Given the description of an element on the screen output the (x, y) to click on. 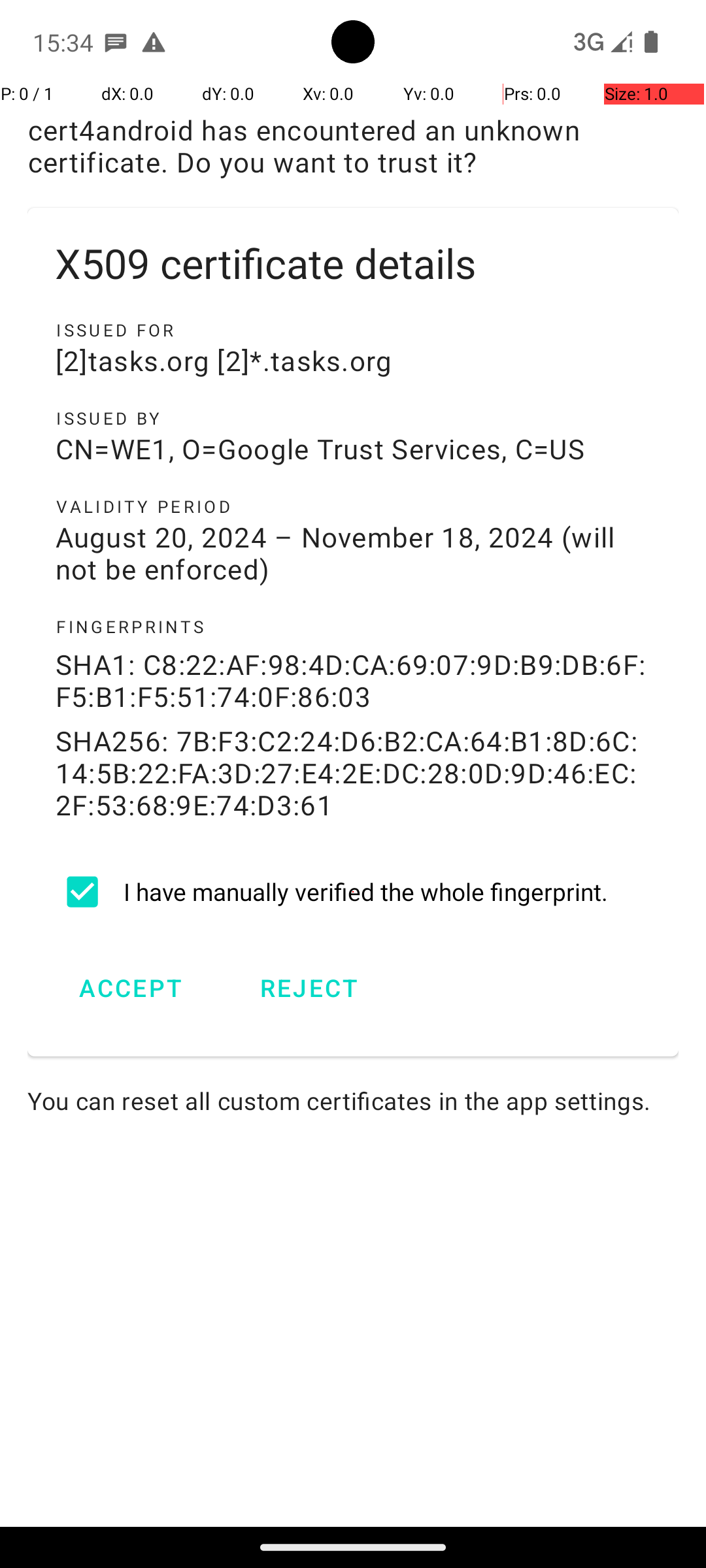
cert4android has encountered an unknown certificate. Do you want to trust it? Element type: android.widget.TextView (352, 145)
X509 certificate details Element type: android.widget.TextView (352, 262)
ISSUED FOR Element type: android.widget.TextView (352, 329)
[2]tasks.org [2]*.tasks.org  Element type: android.widget.TextView (352, 359)
ISSUED BY Element type: android.widget.TextView (352, 417)
CN=WE1, O=Google Trust Services, C=US Element type: android.widget.TextView (352, 448)
VALIDITY PERIOD Element type: android.widget.TextView (352, 506)
August 20, 2024 – November 18, 2024 (will not be enforced) Element type: android.widget.TextView (352, 552)
FINGERPRINTS Element type: android.widget.TextView (352, 626)
SHA1: C8:22:AF:98:4D:CA:69:07:9D:B9:DB:6F:F5:B1:F5:51:74:0F:86:03 Element type: android.widget.TextView (352, 679)
SHA256: 7B:F3:C2:24:D6:B2:CA:64:B1:8D:6C:14:5B:22:FA:3D:27:E4:2E:DC:28:0D:9D:46:EC:2F:53:68:9E:74:D3:61 Element type: android.widget.TextView (352, 772)
I have manually verified the whole fingerprint. Element type: android.widget.CheckBox (352, 891)
ACCEPT Element type: android.widget.Button (129, 987)
REJECT Element type: android.widget.Button (308, 987)
You can reset all custom certificates in the app settings. Element type: android.widget.TextView (352, 1100)
